Given the description of an element on the screen output the (x, y) to click on. 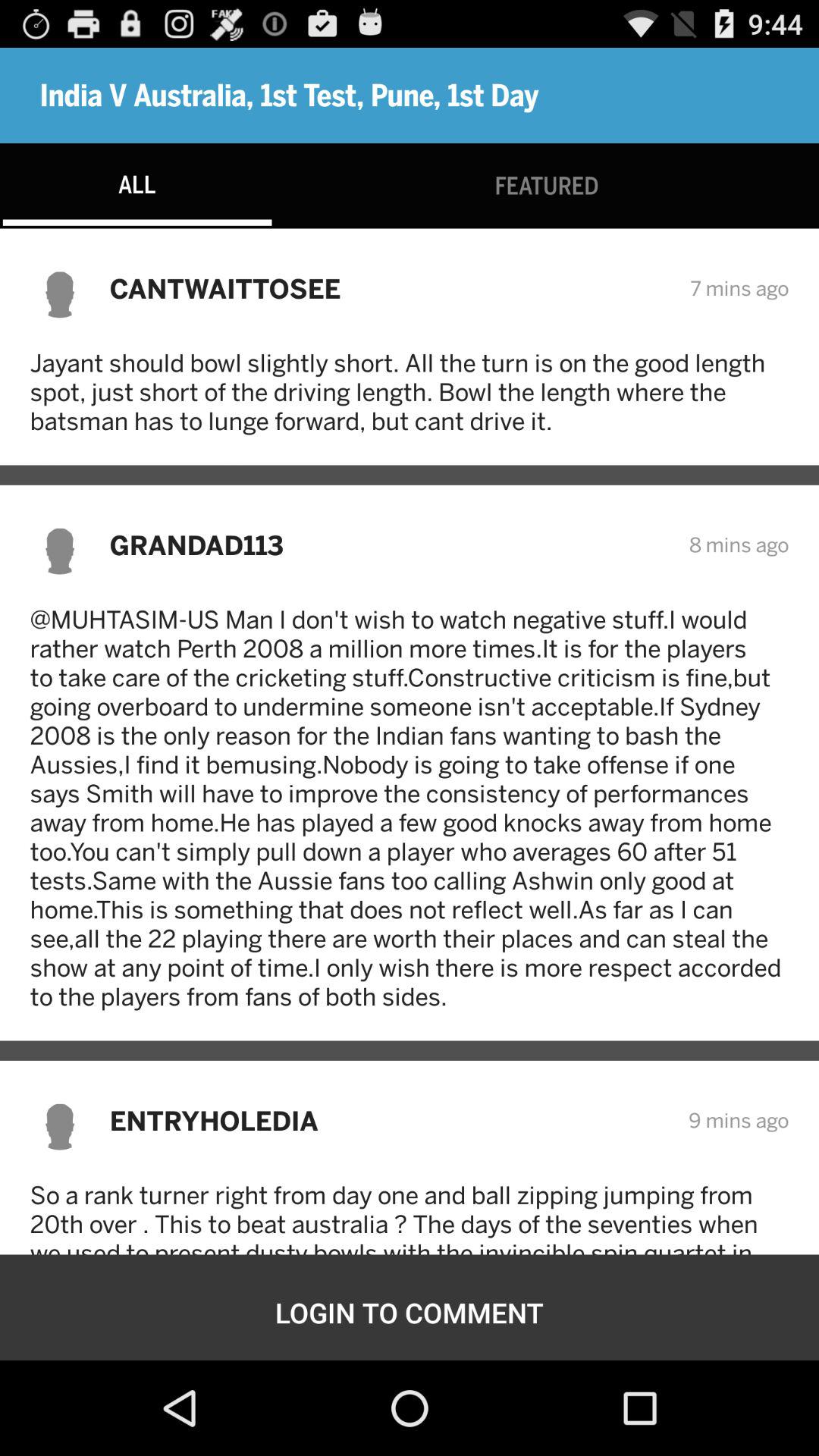
launch item next to the 7 mins ago (389, 288)
